Given the description of an element on the screen output the (x, y) to click on. 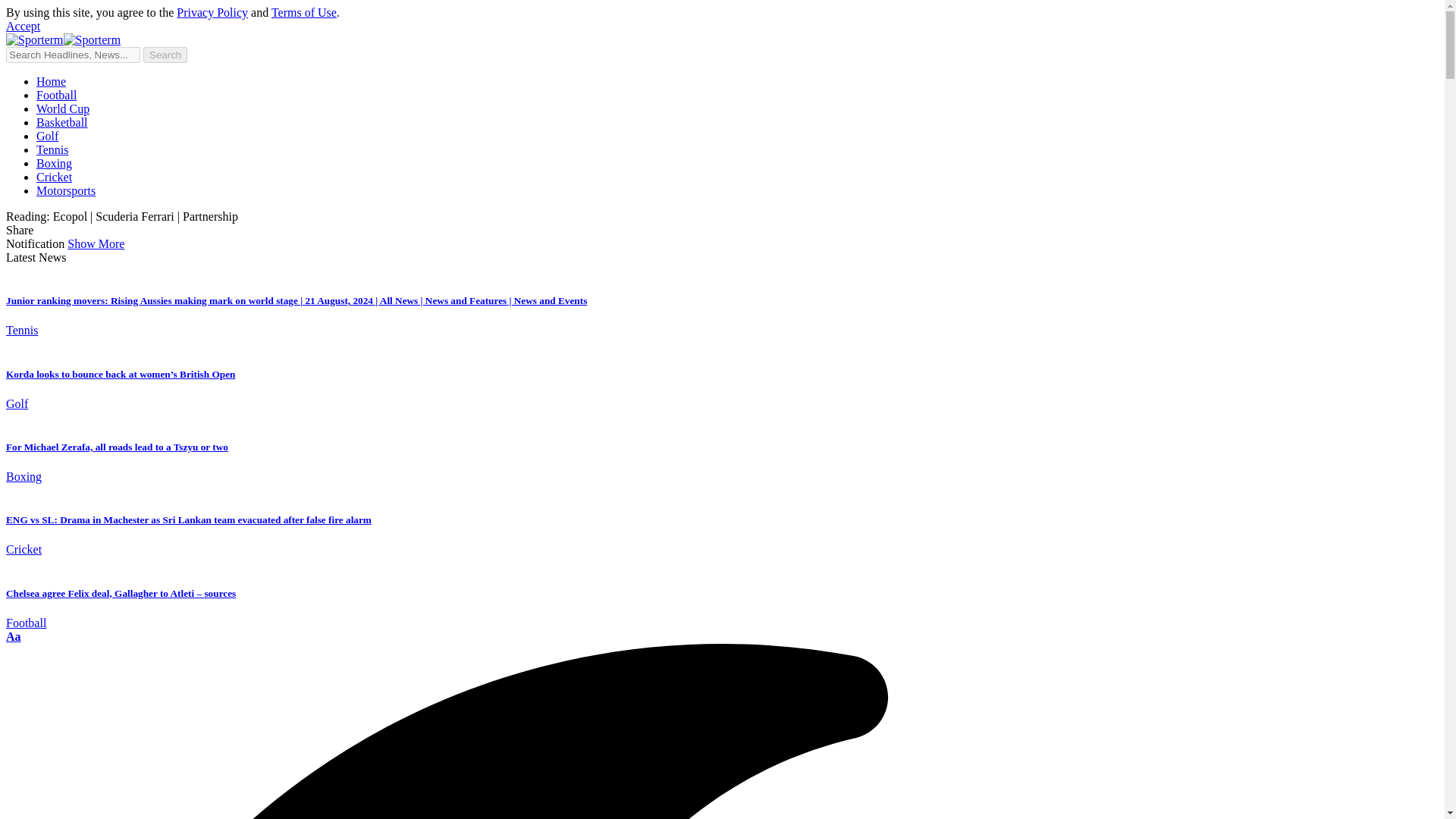
Search (164, 54)
Football (56, 94)
Basketball (61, 122)
Privacy Policy (211, 11)
Motorsports (66, 190)
Terms of Use (303, 11)
Home (50, 81)
Search (164, 54)
Cricket (23, 549)
Cricket (53, 176)
